Given the description of an element on the screen output the (x, y) to click on. 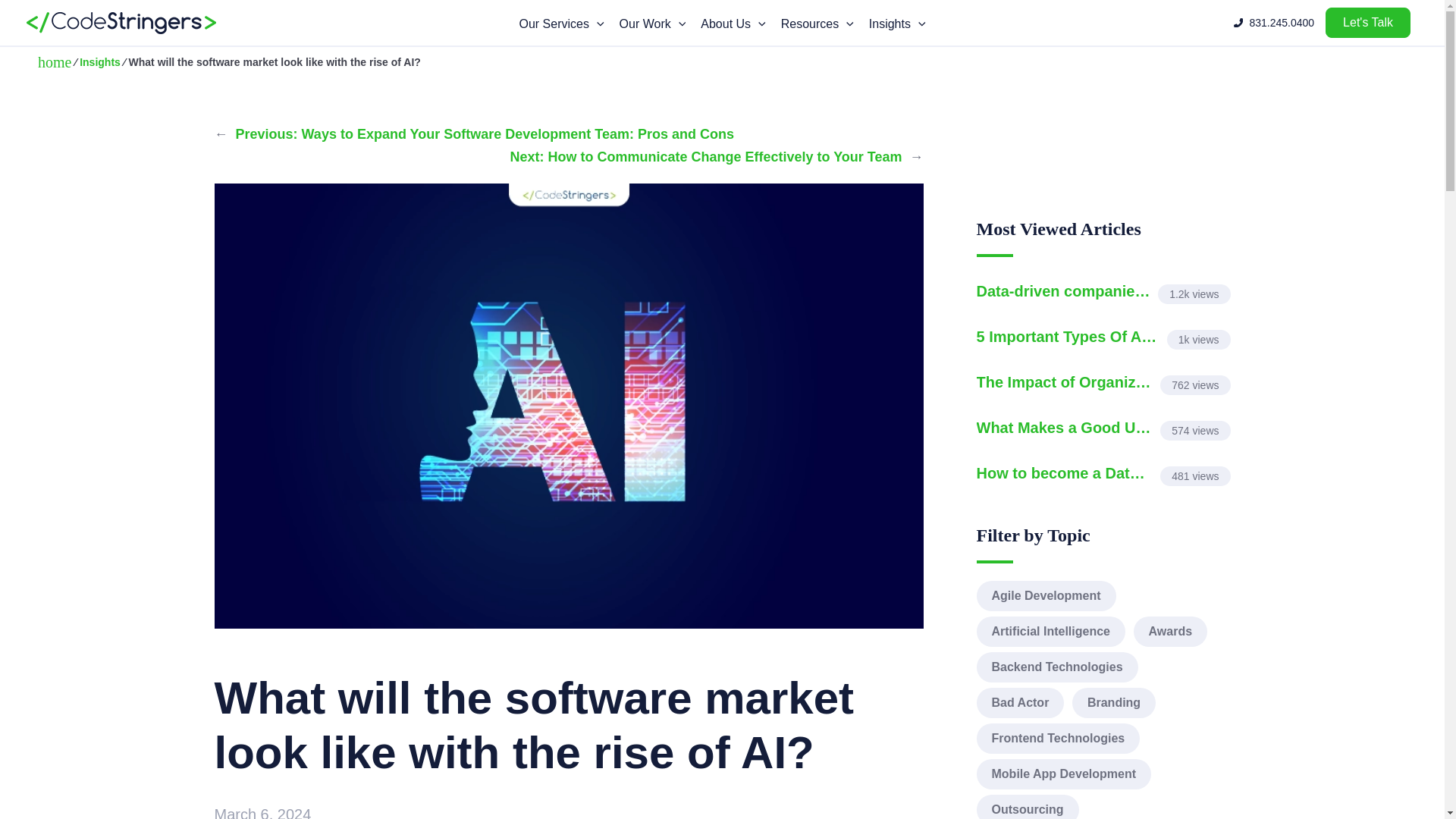
Insights (897, 24)
Our Services (561, 24)
Resources (817, 24)
